Given the description of an element on the screen output the (x, y) to click on. 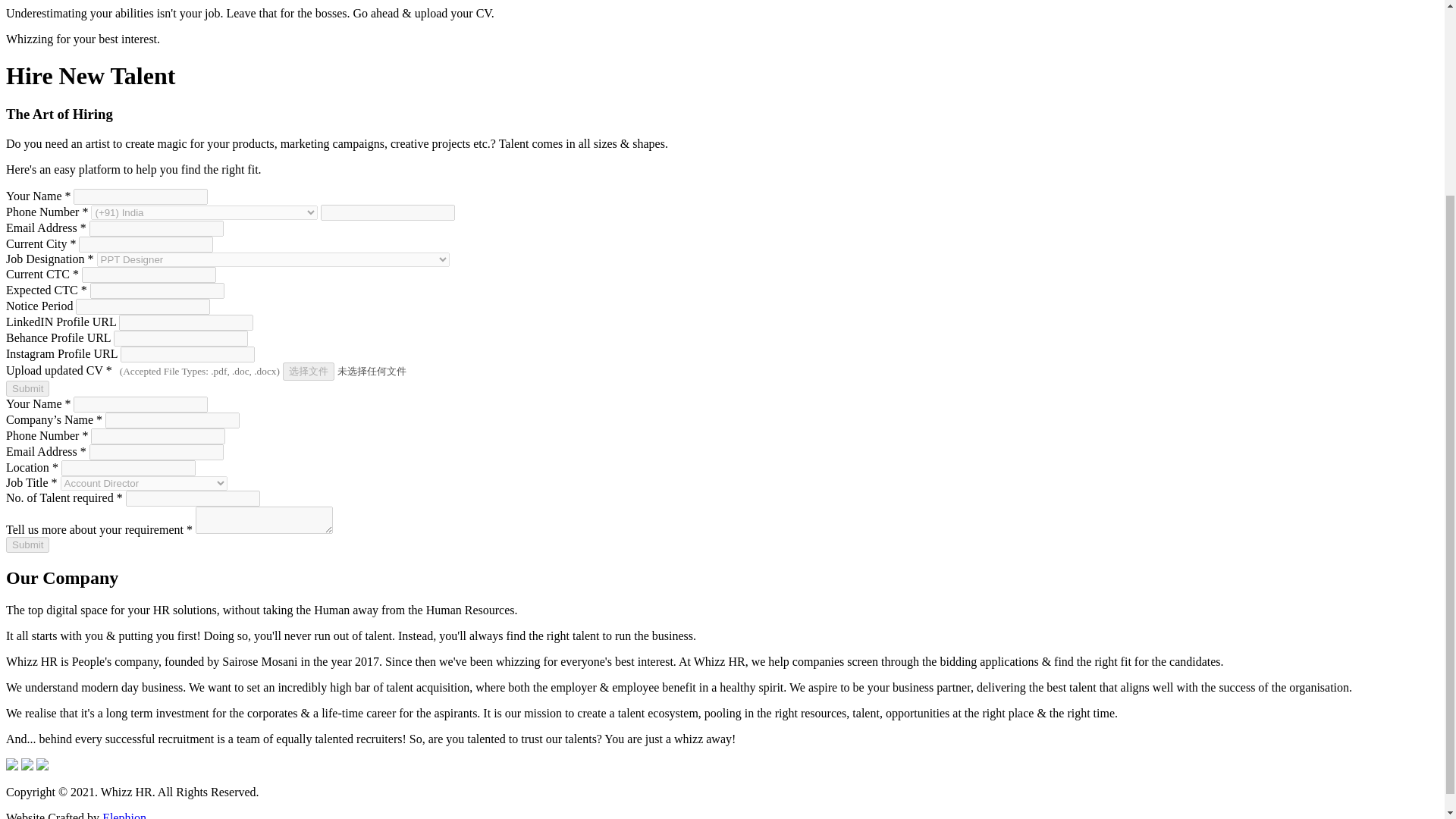
Privacy Policy (304, 791)
Submit (27, 388)
Submit (27, 544)
